Given the description of an element on the screen output the (x, y) to click on. 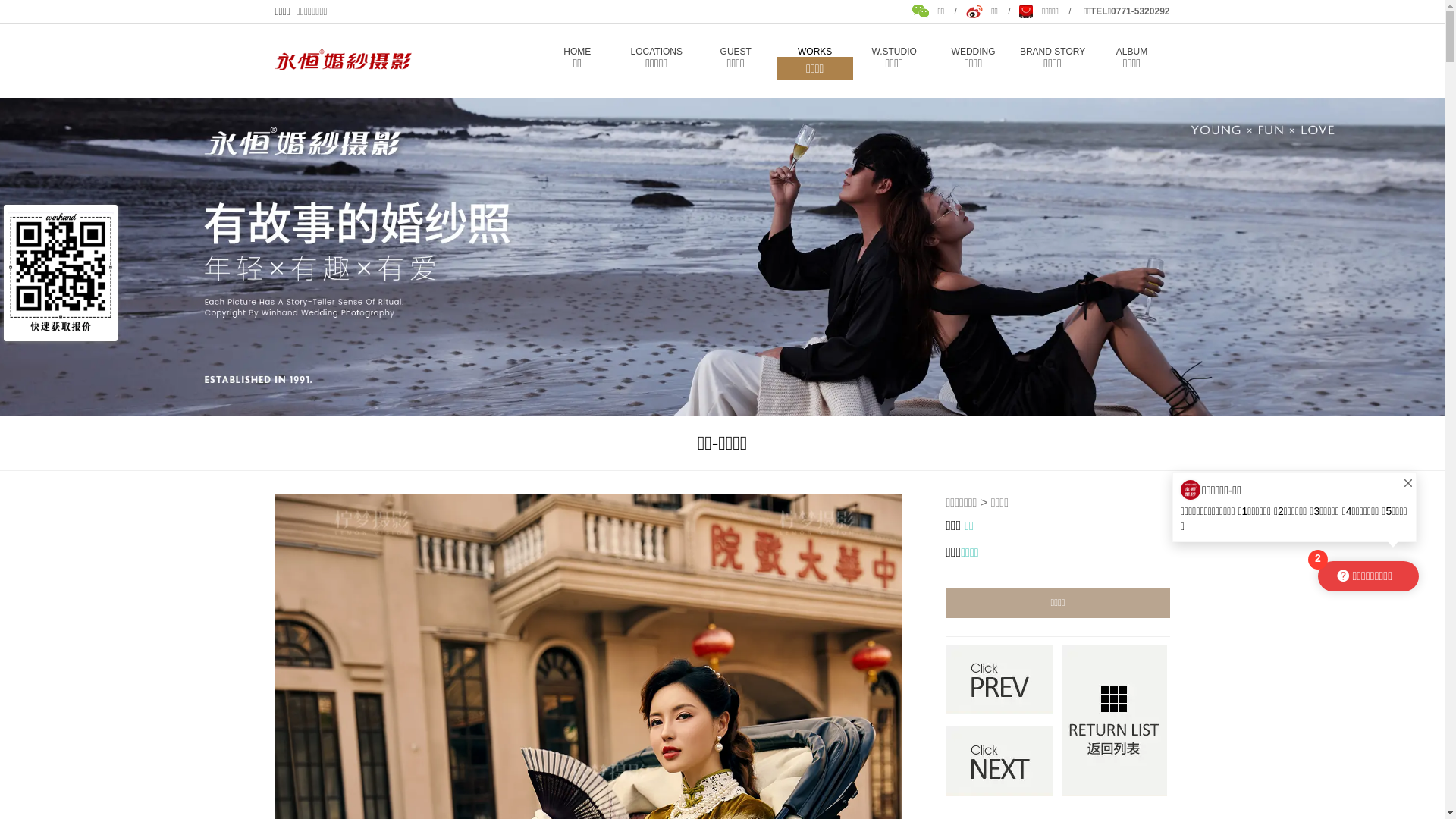
pre Element type: text (999, 679)
Next Element type: text (999, 761)
